Given the description of an element on the screen output the (x, y) to click on. 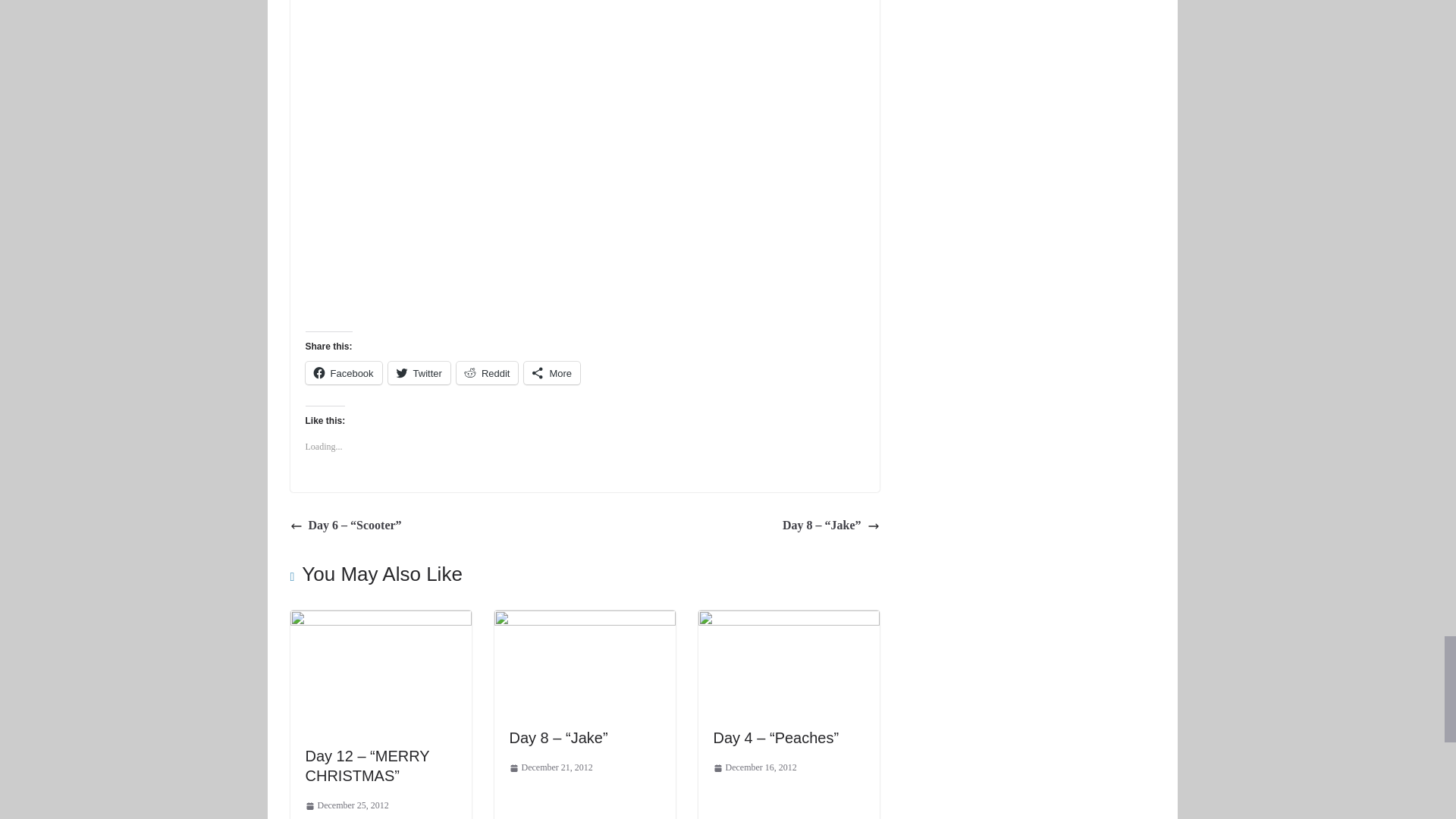
Click to share on Reddit (487, 372)
Click to share on Facebook (342, 372)
Click to share on Twitter (418, 372)
